Given the description of an element on the screen output the (x, y) to click on. 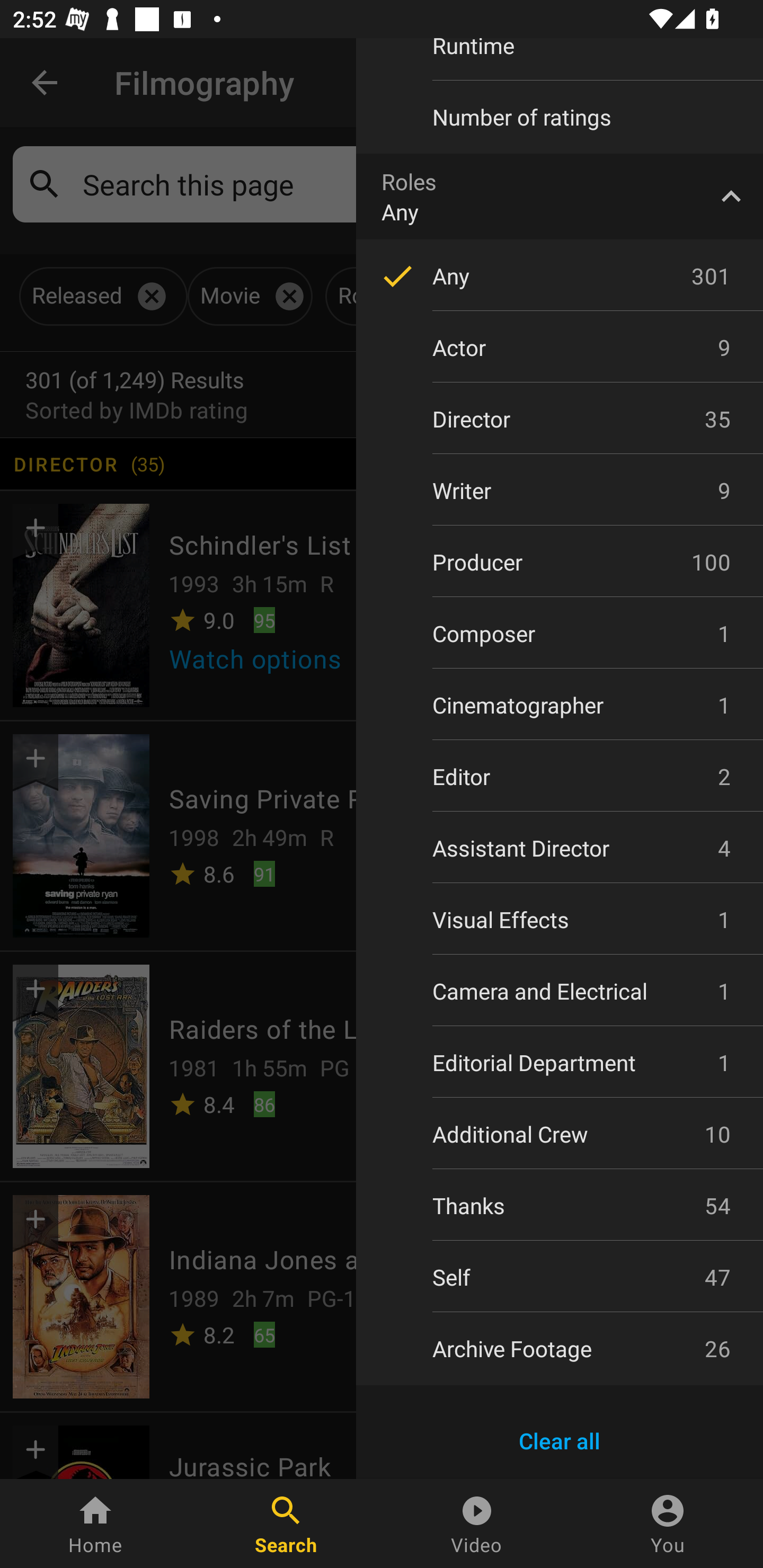
Runtime (559, 58)
Number of ratings (559, 116)
Roles Any (559, 196)
Any 301 (559, 275)
Actor 9 (559, 347)
Director 35 (559, 419)
Writer 9 (559, 490)
Producer 100 (559, 561)
Composer 1 (559, 632)
Cinematographer 1 (559, 704)
Editor 2 (559, 776)
Assistant Director 4 (559, 847)
Visual Effects 1 (559, 919)
Camera and Electrical Department 1 (559, 990)
Editorial Department 1 (559, 1062)
Additional Crew 10 (559, 1134)
Thanks 54 (559, 1205)
Self 47 (559, 1276)
Archive Footage 26 (559, 1347)
Clear all (559, 1440)
Home (95, 1523)
Video (476, 1523)
You (667, 1523)
